Given the description of an element on the screen output the (x, y) to click on. 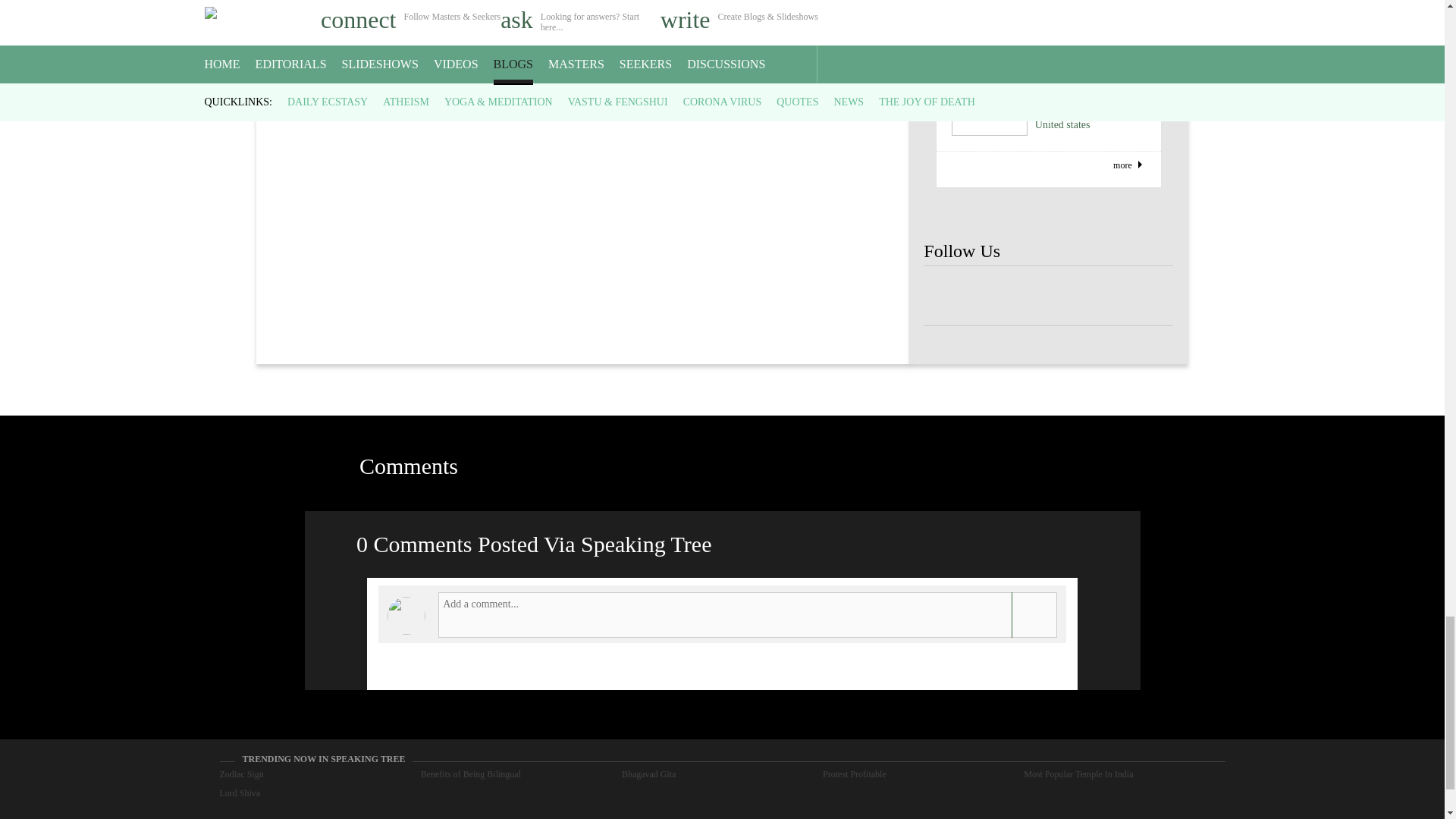
Speaking Tree FaceBook (998, 296)
Speaking Tree FaceBook (1048, 296)
Speaking Tree FaceBook (948, 296)
Speaking Tree FaceBook (1099, 296)
Speaking Tree FaceBook (1147, 296)
